Given the description of an element on the screen output the (x, y) to click on. 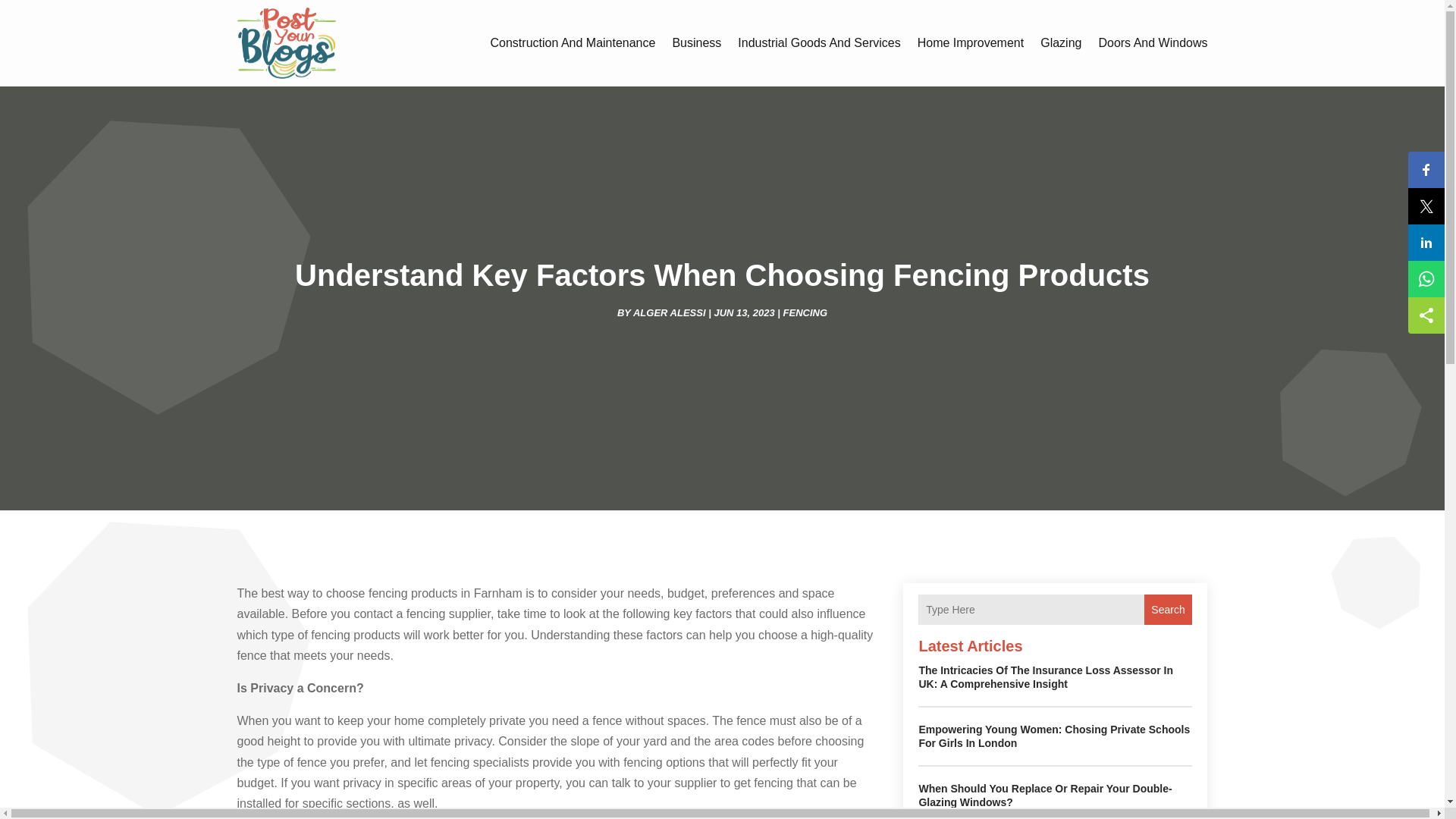
Glazing (1061, 42)
Business (695, 42)
Doors And Windows (1152, 42)
Search (1168, 609)
FENCING (805, 312)
ALGER ALESSI (669, 312)
Home Improvement (971, 42)
Industrial Goods And Services (818, 42)
Posts by Alger Alessi (669, 312)
Construction And Maintenance (572, 42)
